Given the description of an element on the screen output the (x, y) to click on. 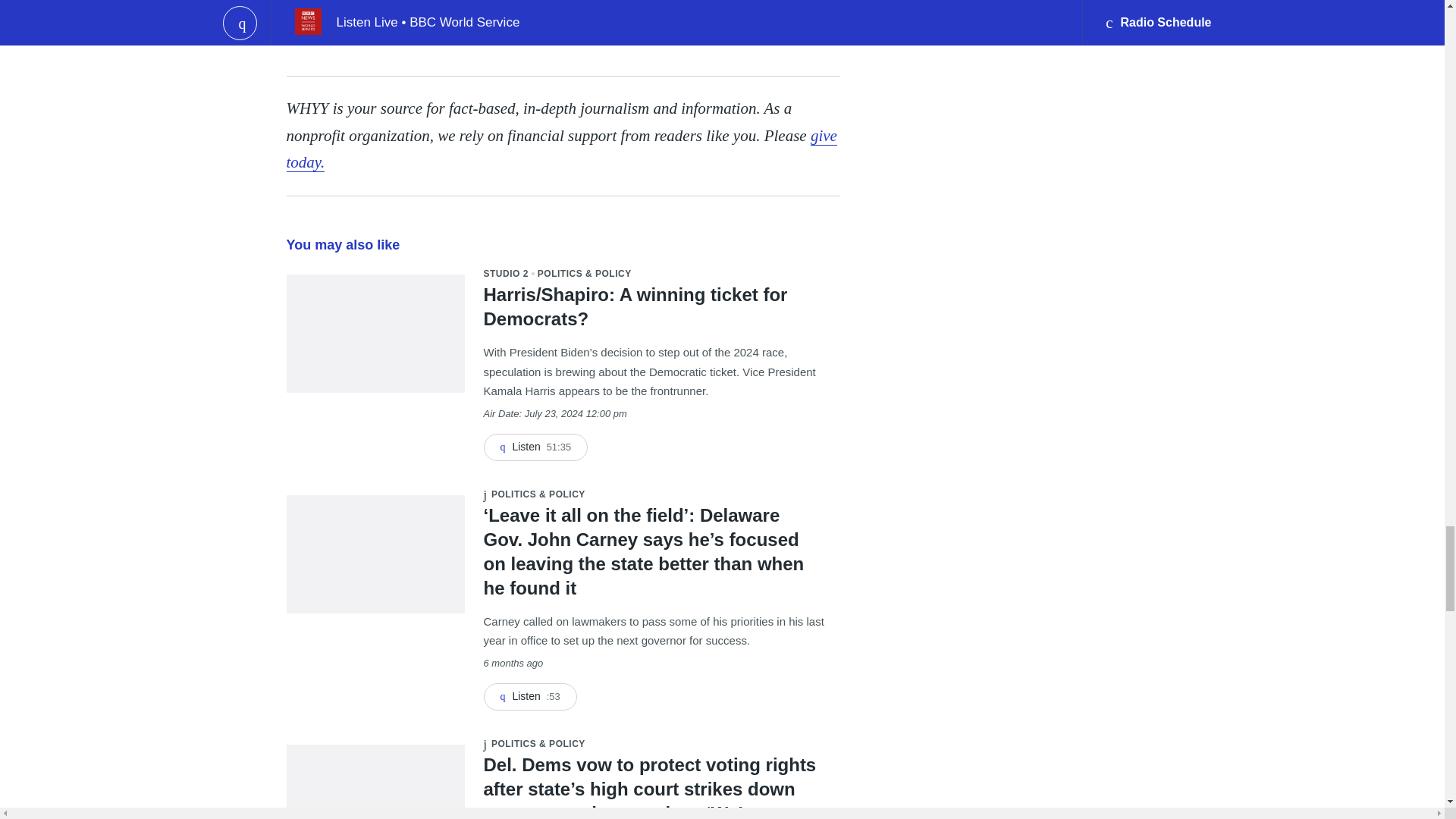
Email (418, 33)
Facebook (357, 33)
Twitter (387, 33)
